Given the description of an element on the screen output the (x, y) to click on. 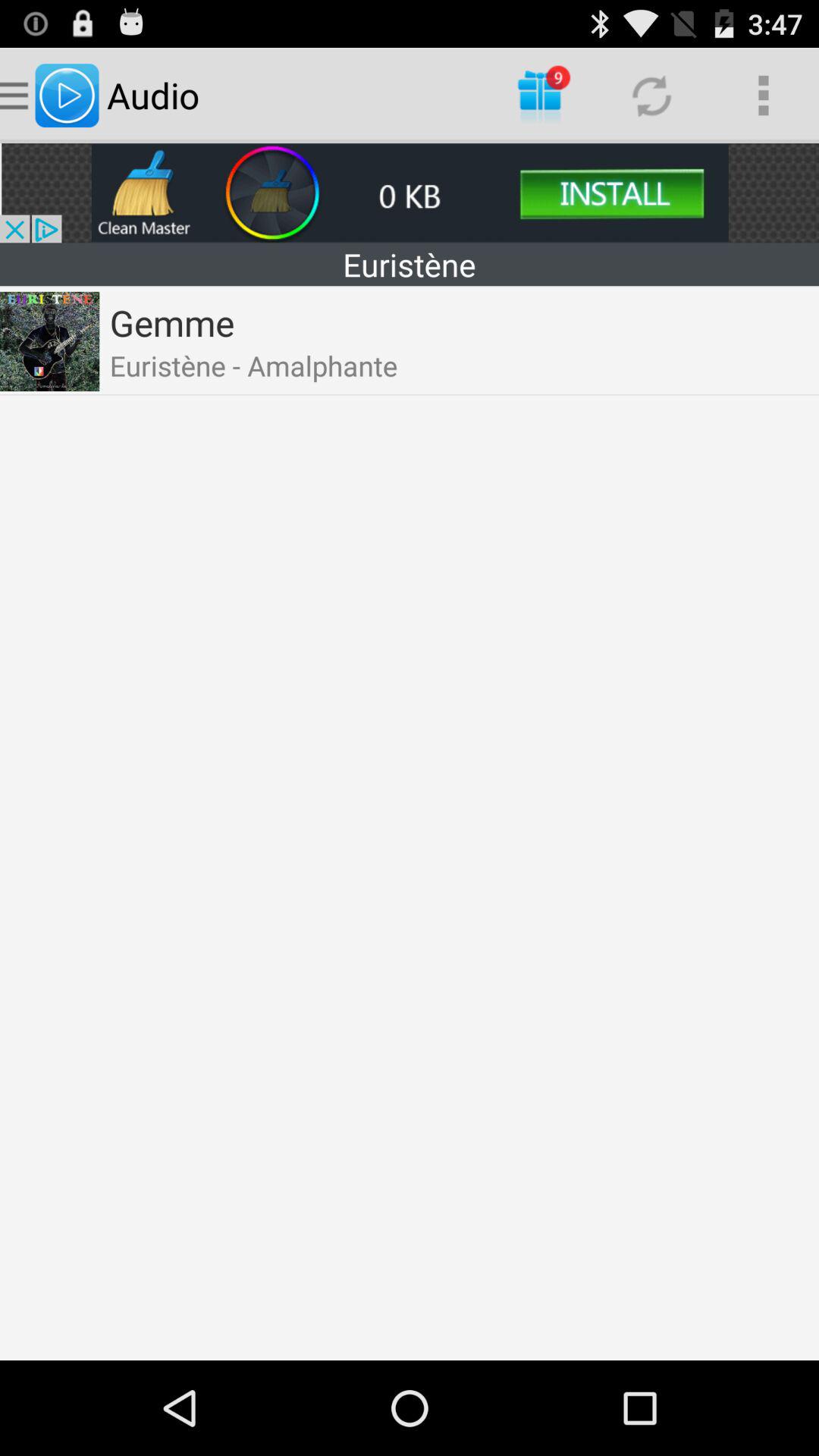
advertisement (409, 192)
